Given the description of an element on the screen output the (x, y) to click on. 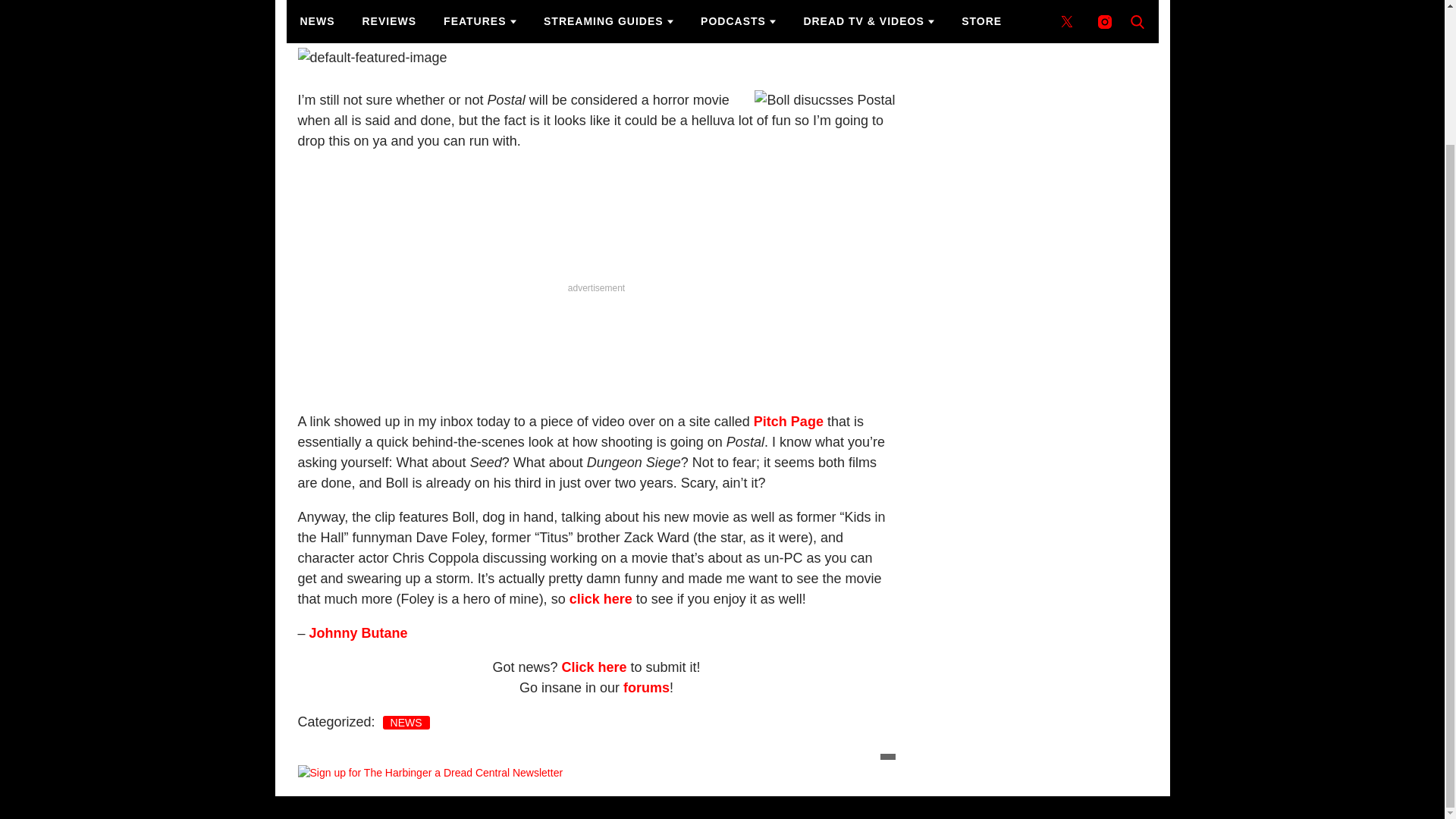
Share on Flipboard (771, 8)
Share on Twitter (714, 8)
Share on Reddit (799, 8)
Share on LinkedIn (743, 8)
Johnny Butane (362, 7)
Posts by Johnny Butane (362, 7)
Share on Facebook (687, 8)
Share on Pinterest (826, 8)
